Given the description of an element on the screen output the (x, y) to click on. 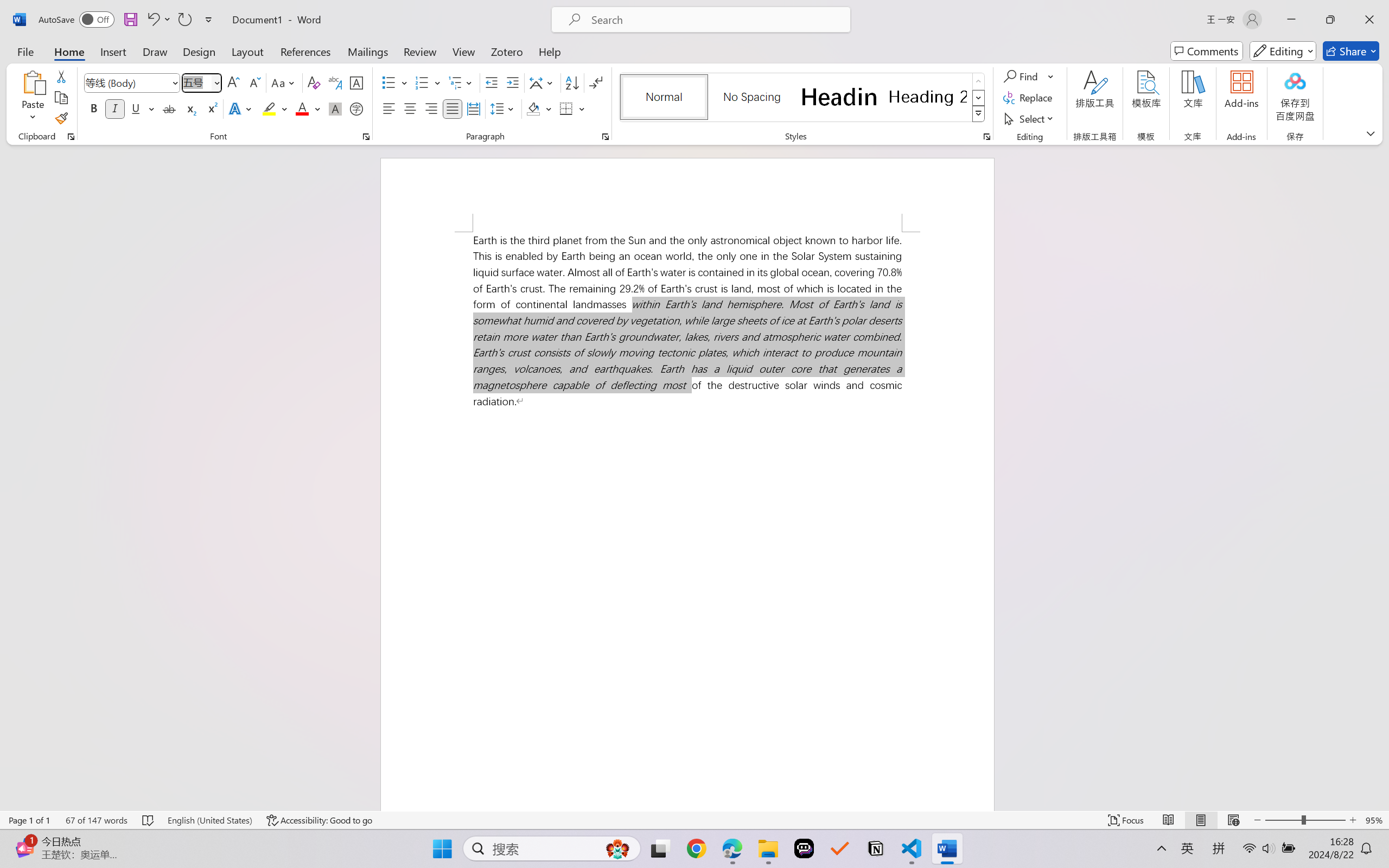
Font Color (308, 108)
Multilevel List (461, 82)
Undo Italic (152, 19)
Class: MsoCommandBar (694, 819)
Grow Font (233, 82)
Enclose Characters... (356, 108)
Page Number Page 1 of 1 (29, 819)
